Given the description of an element on the screen output the (x, y) to click on. 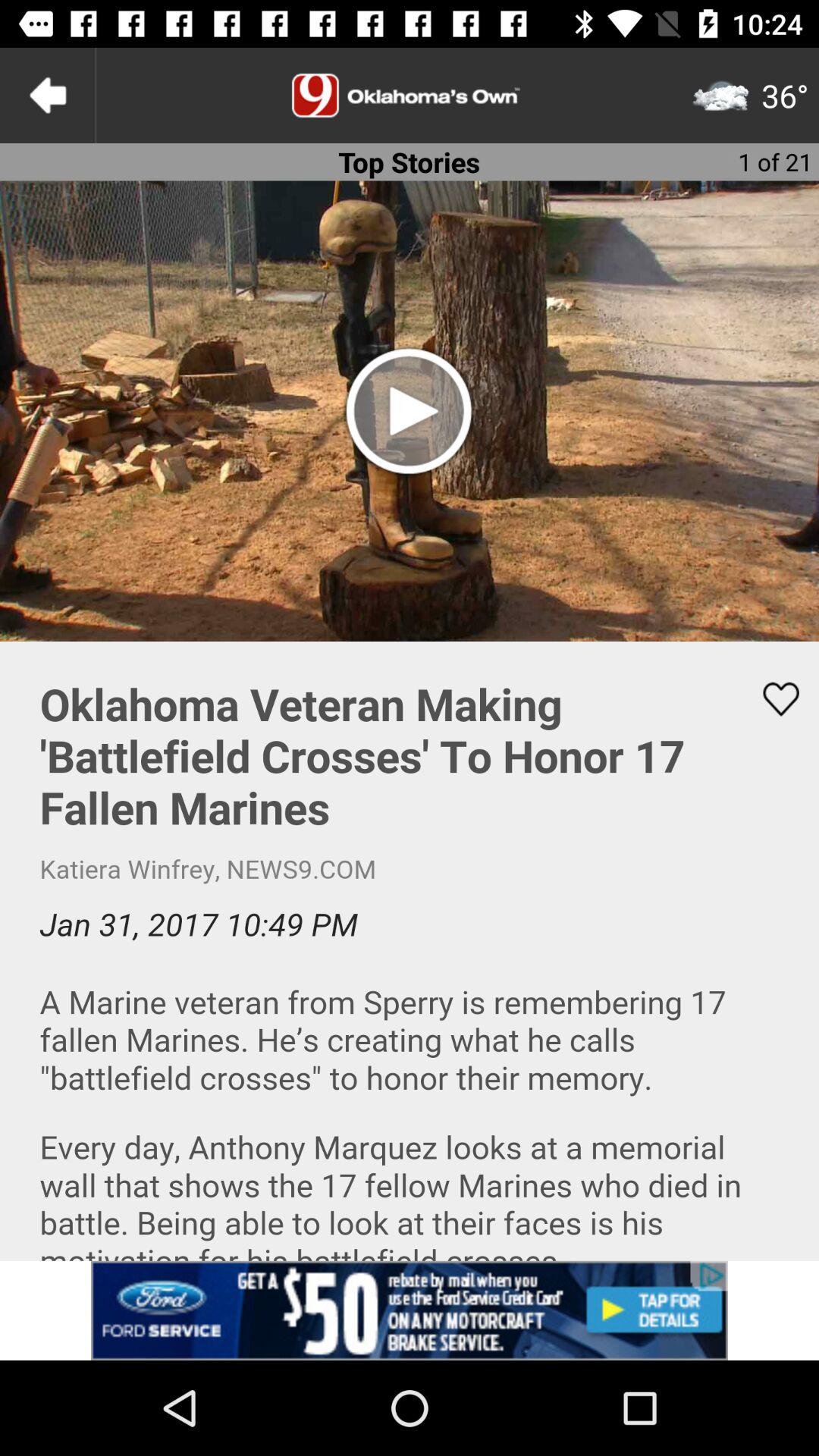
make it favorite (771, 699)
